Given the description of an element on the screen output the (x, y) to click on. 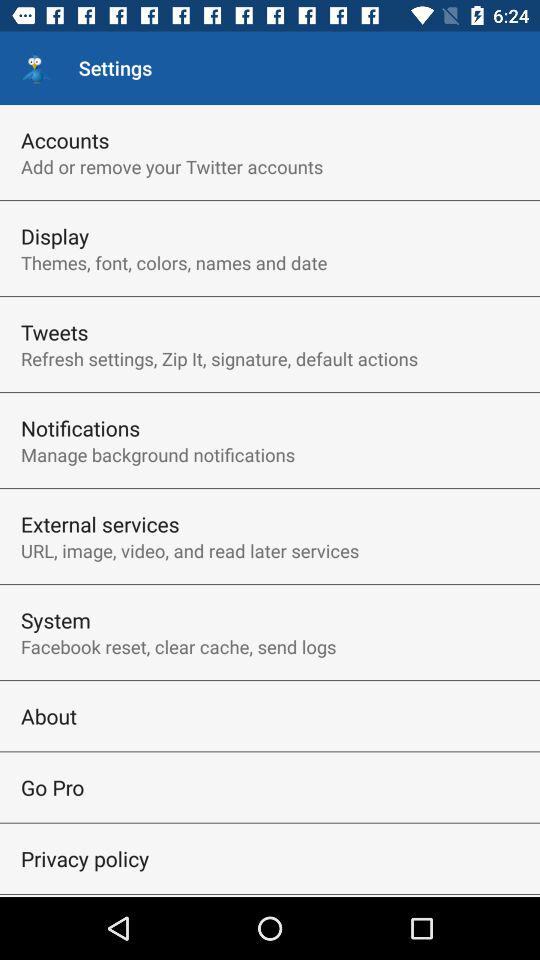
swipe until manage background notifications (158, 454)
